Given the description of an element on the screen output the (x, y) to click on. 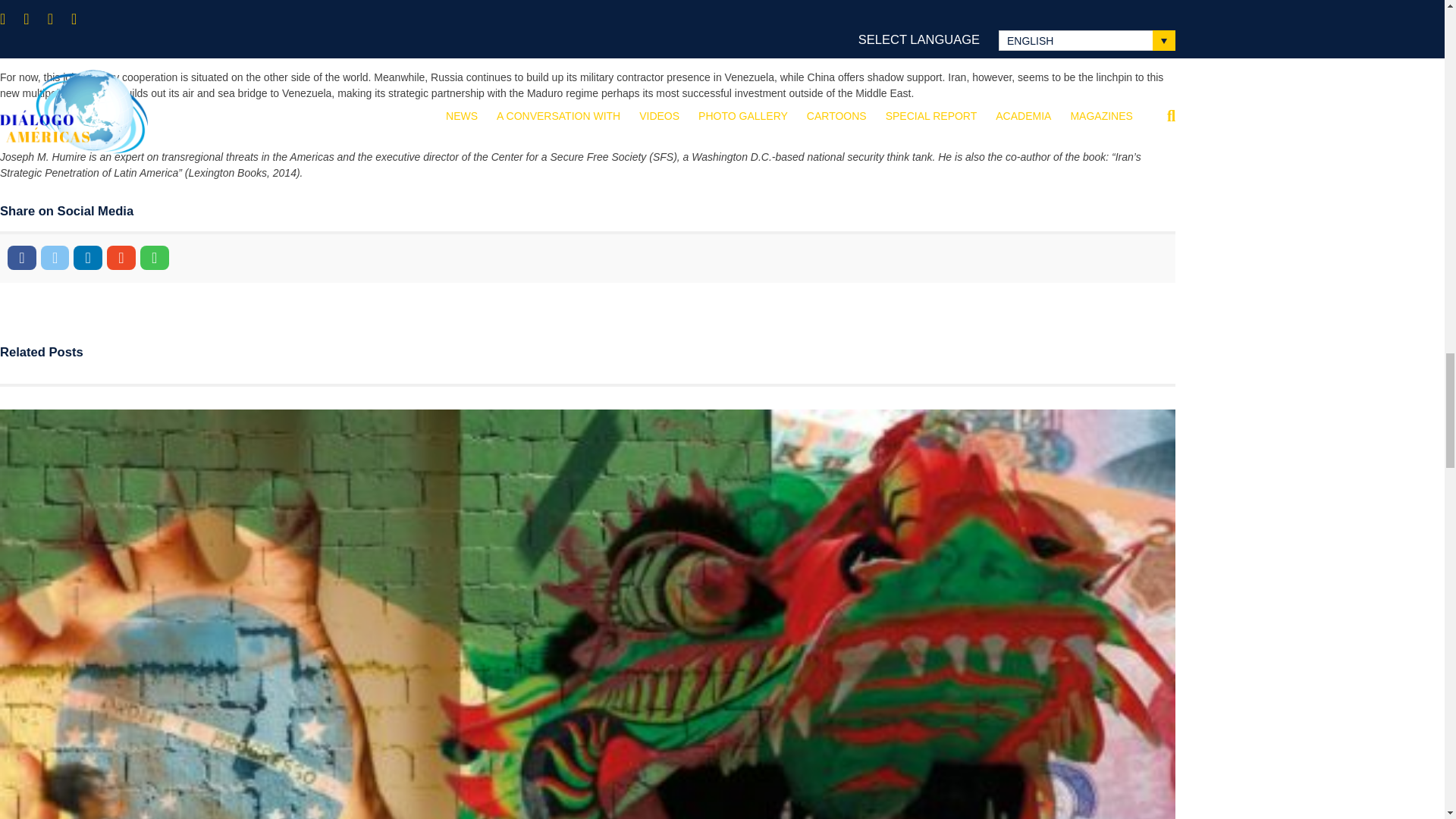
WhatsApp (153, 257)
Mail (120, 257)
Facebook (21, 257)
Twitter (54, 257)
Linkedin (87, 257)
